Given the description of an element on the screen output the (x, y) to click on. 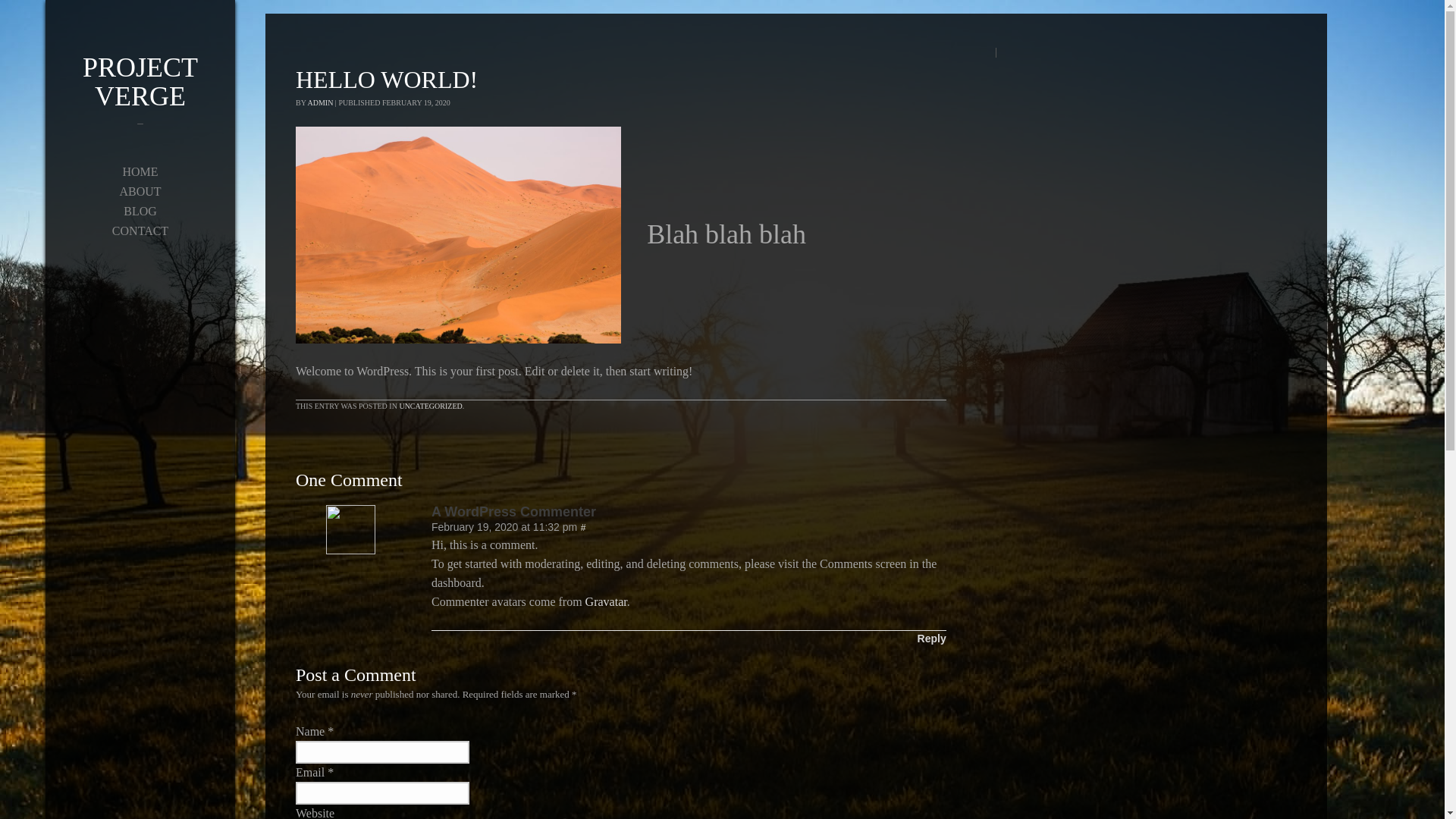
ABOUT (139, 191)
BLOG (139, 211)
UNCATEGORIZED (429, 406)
PROJECT VERGE (139, 92)
Comment Author (350, 549)
A WordPress Commenter (688, 511)
CONTACT (139, 230)
View all posts by admin (320, 102)
HOME (139, 171)
Comment Author (688, 511)
Gravatar (606, 601)
ADMIN (320, 102)
Reply (931, 638)
Permalink to this comment (583, 527)
